Given the description of an element on the screen output the (x, y) to click on. 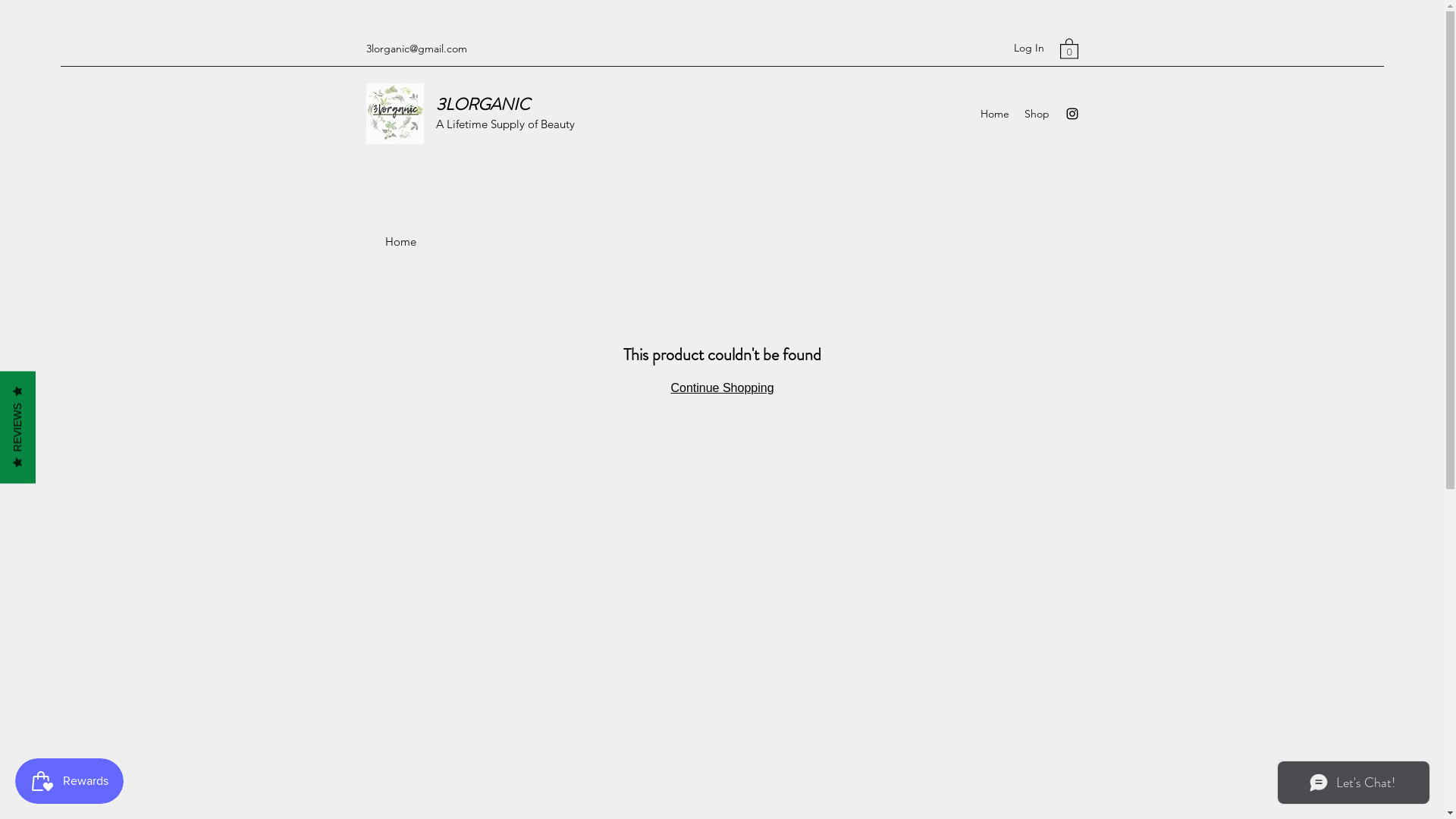
3lorganic@gmail.com Element type: text (415, 48)
Shop Element type: text (1036, 113)
Home Element type: text (994, 113)
Home Element type: text (400, 241)
Continue Shopping Element type: text (721, 387)
0 Element type: text (1069, 48)
Log In Element type: text (1028, 48)
 REVIEWS  Element type: text (56, 388)
Smile.io Rewards Program Launcher Element type: hover (69, 780)
